Given the description of an element on the screen output the (x, y) to click on. 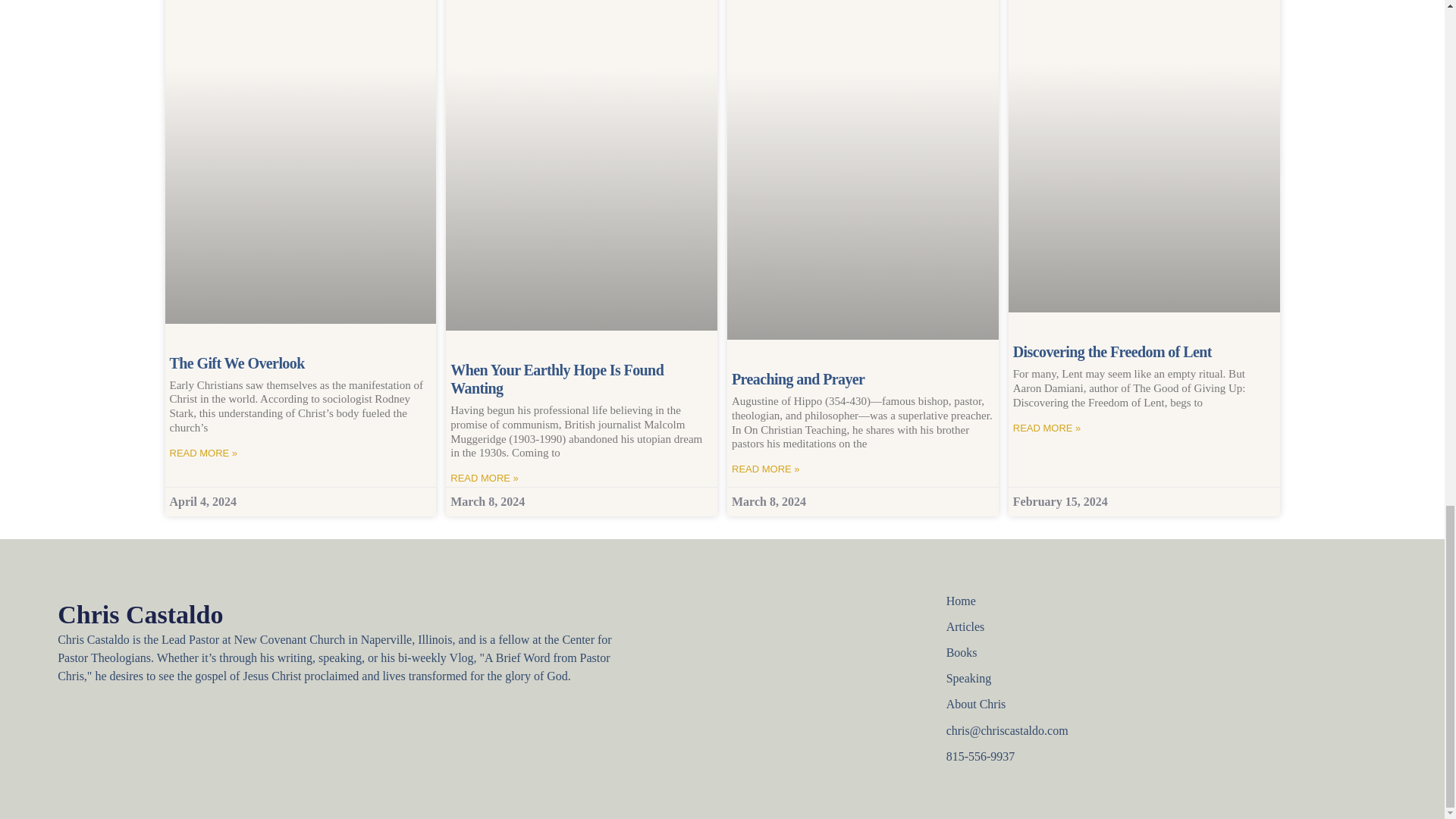
Books (1112, 652)
Discovering the Freedom of Lent (1112, 351)
Home (1112, 601)
Speaking (1112, 678)
About Chris (1112, 704)
815-556-9937 (1112, 756)
When Your Earthly Hope Is Found Wanting (556, 378)
Preaching and Prayer (798, 379)
The Gift We Overlook (237, 362)
Articles (1112, 627)
